Given the description of an element on the screen output the (x, y) to click on. 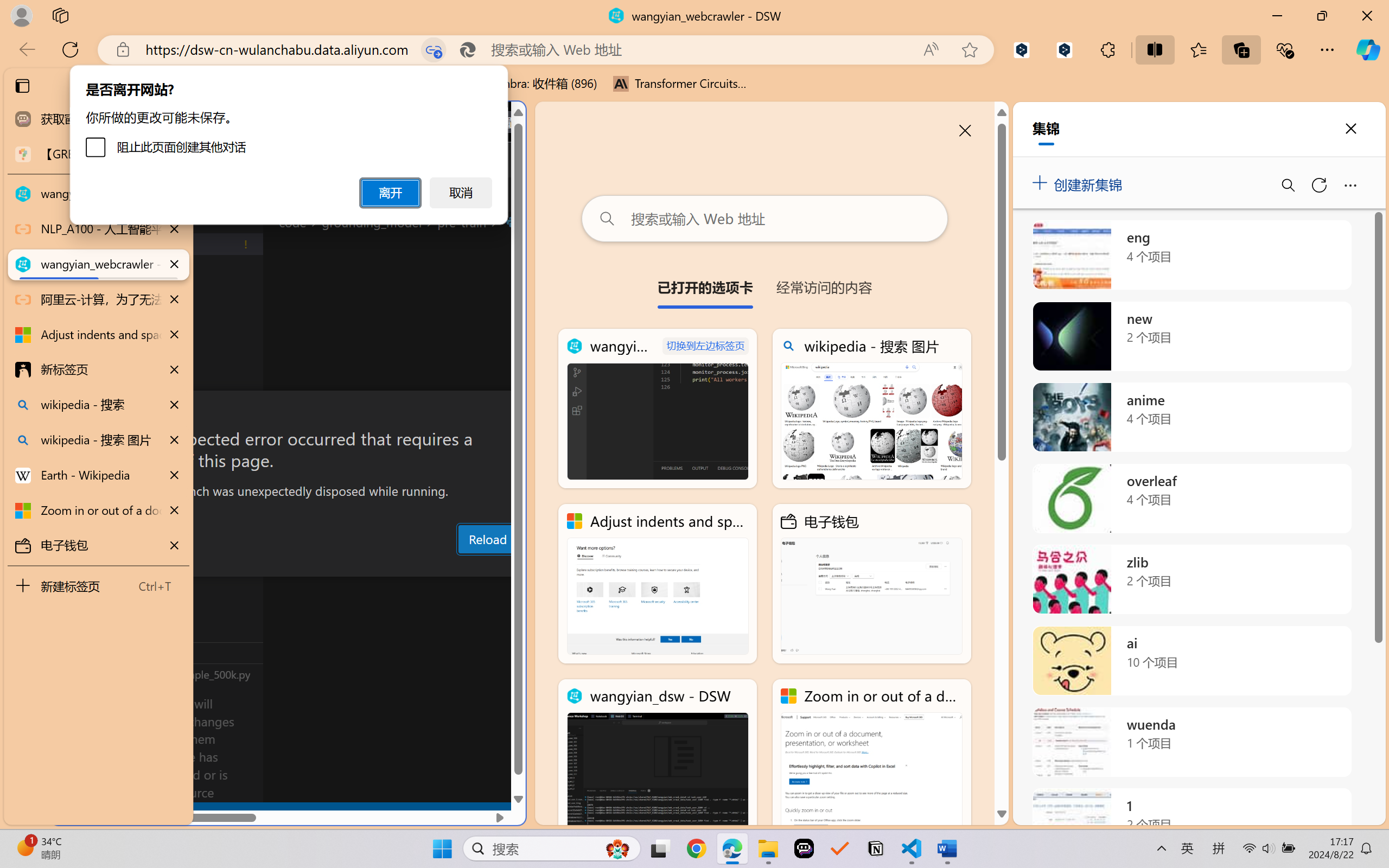
wangyian_webcrawler - DSW (657, 408)
Google Chrome (696, 848)
